Given the description of an element on the screen output the (x, y) to click on. 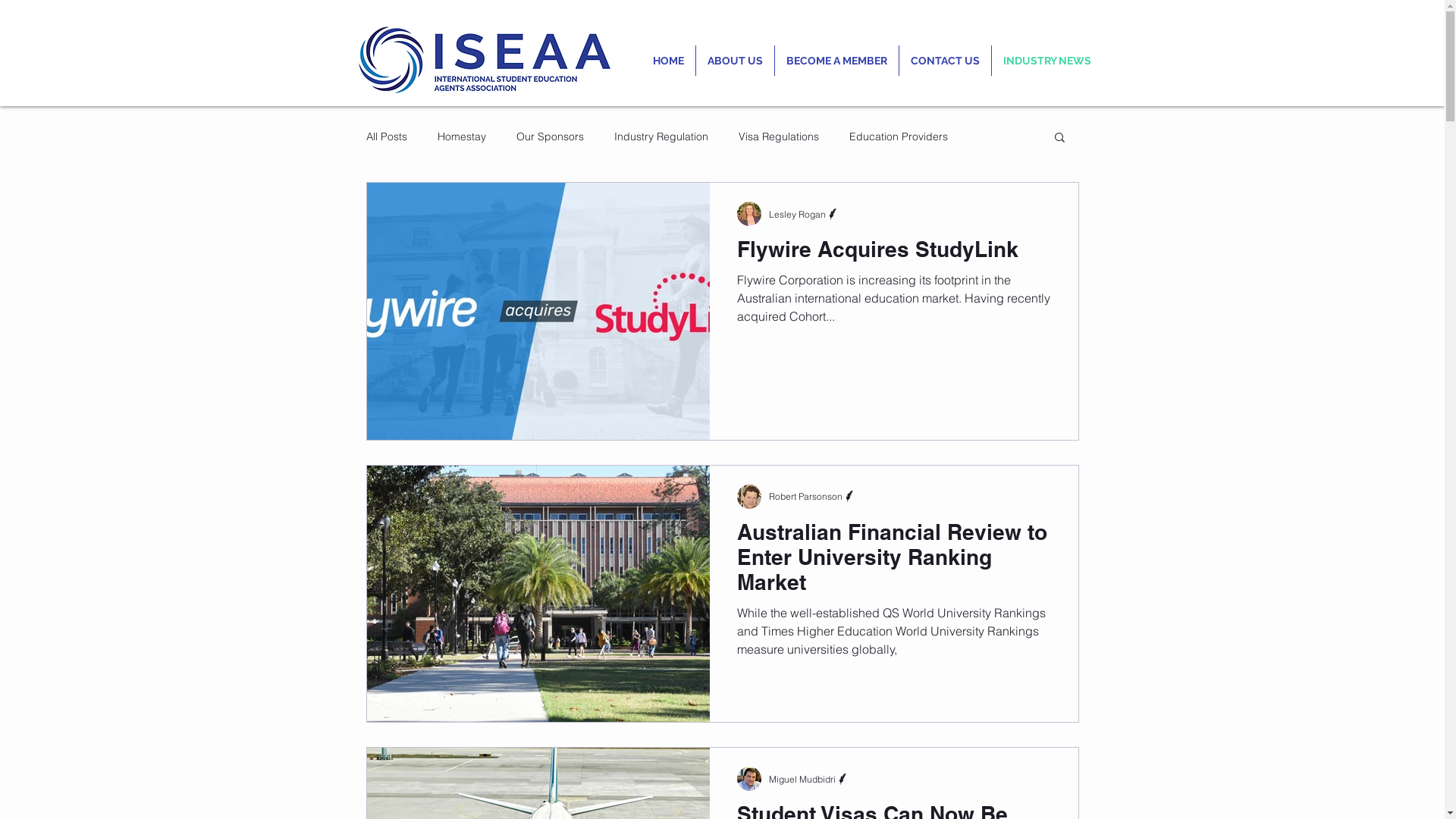
INDUSTRY NEWS Element type: text (1046, 60)
Flywire Acquires StudyLink Element type: text (894, 252)
Homestay Element type: text (460, 136)
Lesley Rogan Element type: text (804, 213)
Lesley Rogan Element type: text (804, 207)
Our Sponsors Element type: text (549, 136)
Robert Parsonson Element type: text (812, 496)
Miguel Mudbidri Element type: text (809, 772)
Industry Regulation Element type: text (661, 136)
All Posts Element type: text (385, 136)
BECOME A MEMBER Element type: text (836, 60)
HOME Element type: text (668, 60)
Robert Parsonson Element type: text (812, 490)
Education Providers Element type: text (898, 136)
3 likes. Post not marked as liked
3 Element type: text (1038, 697)
Post not marked as liked Element type: text (1042, 414)
Visa Regulations Element type: text (778, 136)
ABOUT US Element type: text (735, 60)
Miguel Mudbidri Element type: text (809, 778)
CONTACT US Element type: text (945, 60)
